Given the description of an element on the screen output the (x, y) to click on. 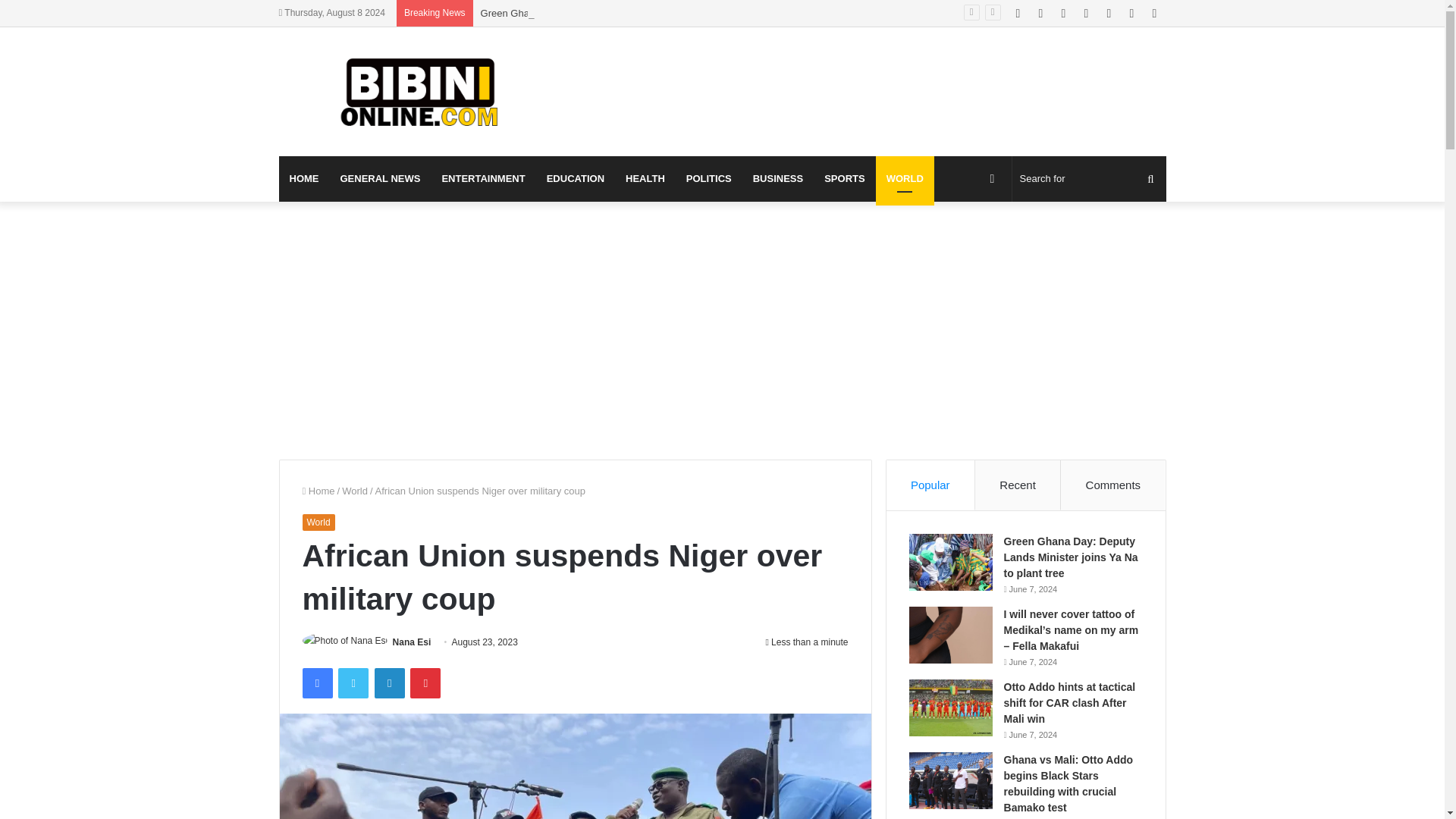
HEALTH (644, 178)
World (317, 522)
GENERAL NEWS (379, 178)
POLITICS (708, 178)
Search for (1088, 178)
EDUCATION (574, 178)
Bibini Online (419, 91)
BUSINESS (777, 178)
Twitter (352, 683)
Nana Esi (411, 642)
